Given the description of an element on the screen output the (x, y) to click on. 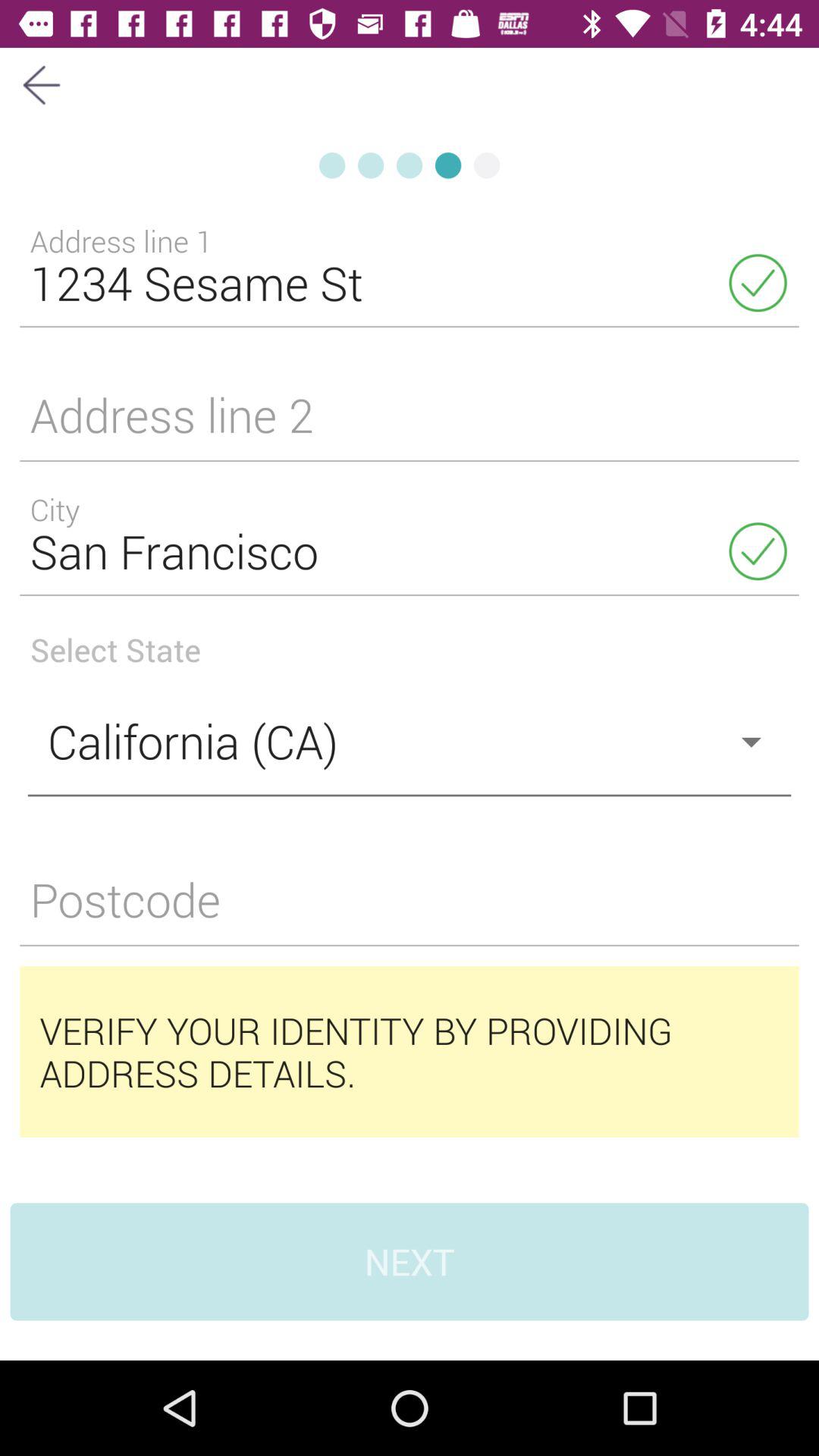
enter your postcode (409, 908)
